Given the description of an element on the screen output the (x, y) to click on. 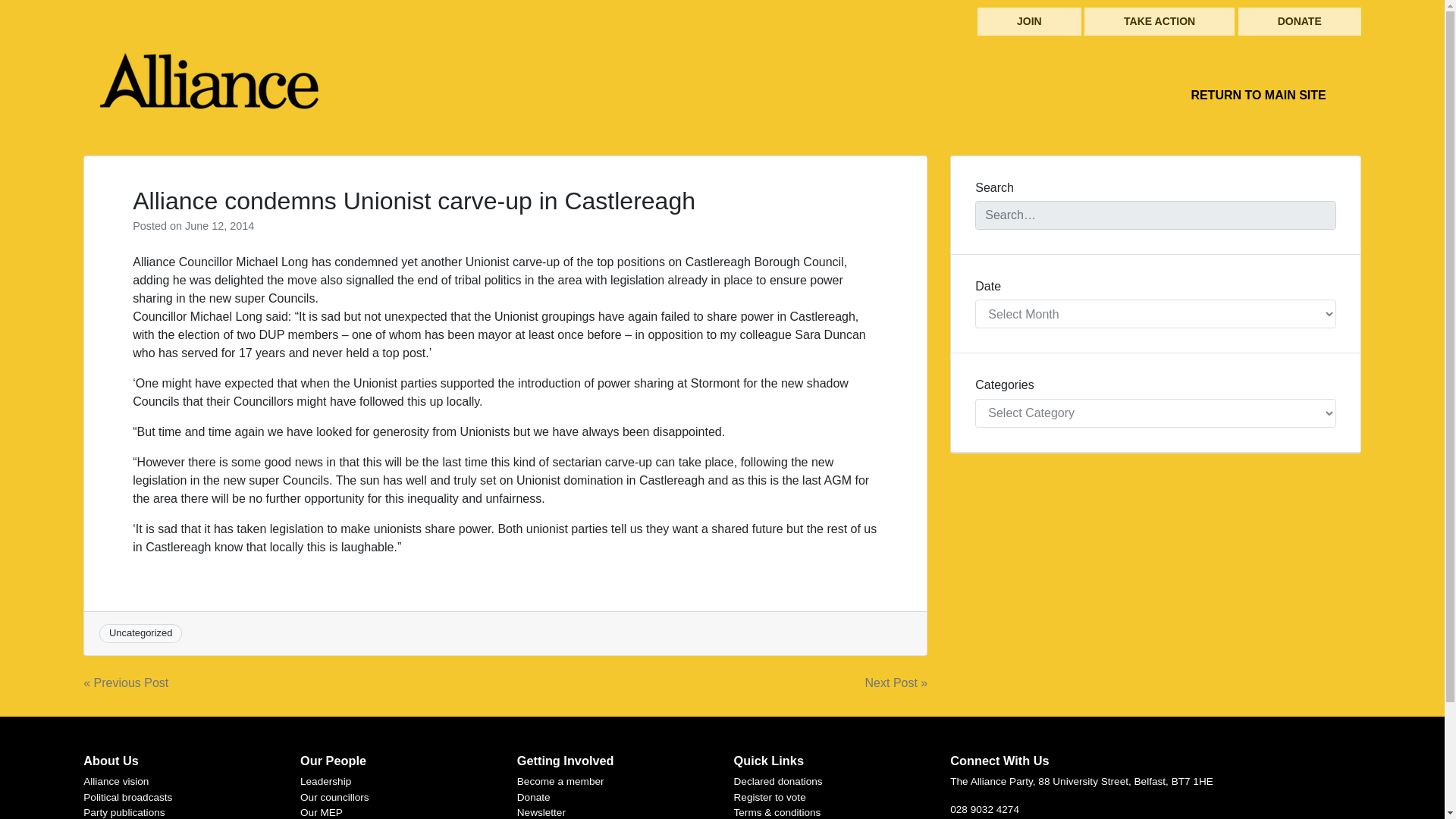
RETURN TO MAIN SITE (1257, 95)
028 9032 4274 (984, 808)
June 12, 2014 (218, 225)
Declared donations (777, 781)
Political broadcasts (126, 797)
Donate (533, 797)
Our councillors (334, 797)
Leadership (324, 781)
JOIN (1028, 21)
Party publications (123, 812)
Become a member (560, 781)
DONATE (1300, 21)
Register to vote (769, 797)
TAKE ACTION (1159, 21)
Our MEP (320, 812)
